Given the description of an element on the screen output the (x, y) to click on. 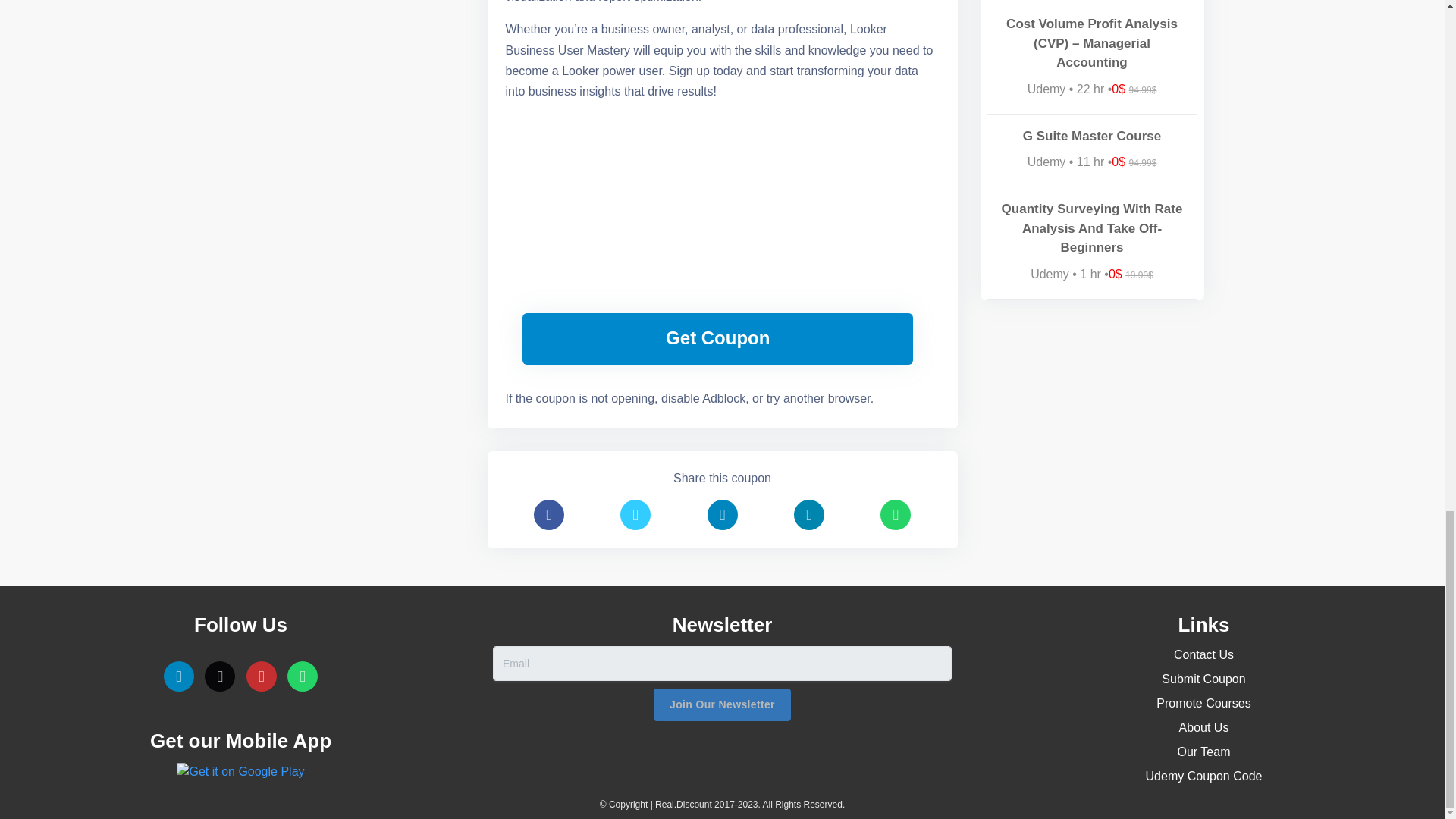
Join Our Newsletter (721, 704)
